Given the description of an element on the screen output the (x, y) to click on. 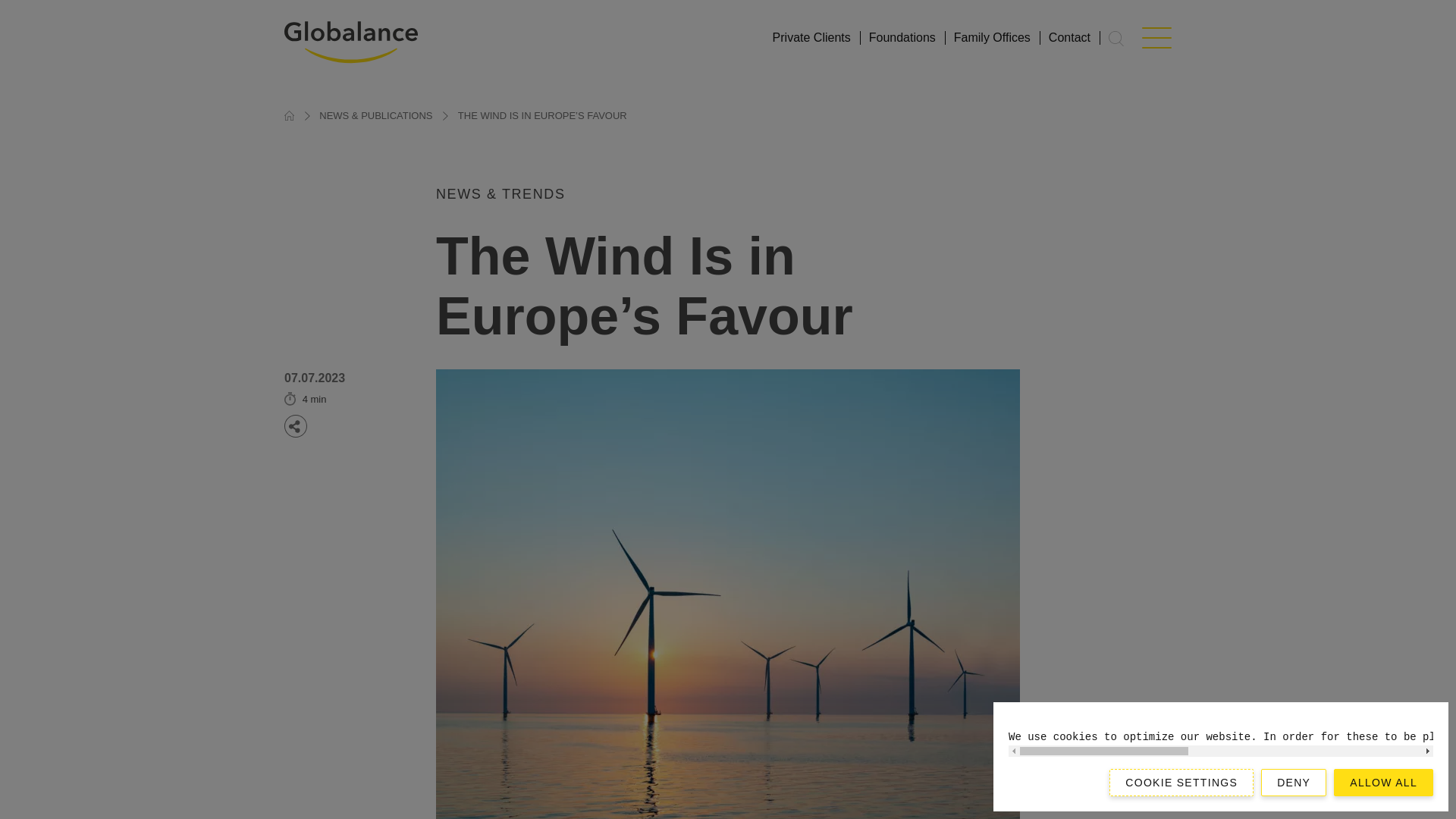
Contact (1069, 37)
Foundations (902, 37)
Share (295, 425)
Family Offices (991, 37)
Private Clients (811, 37)
STARTSEITE (288, 115)
